Given the description of an element on the screen output the (x, y) to click on. 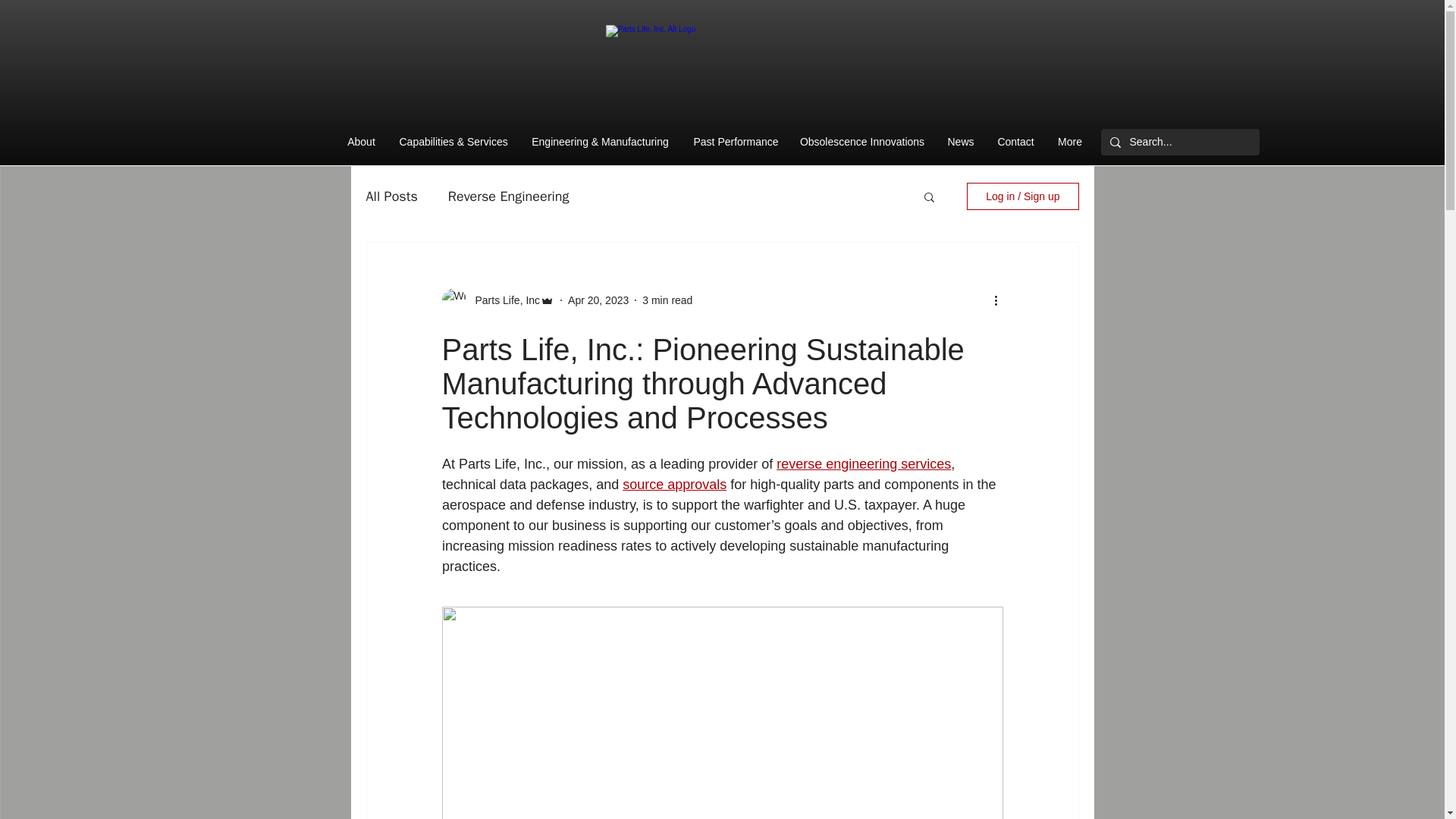
Apr 20, 2023 (597, 300)
Obsolescence Innovations (862, 141)
News (960, 141)
Reverse Engineering (508, 196)
reverse engineering services (863, 463)
About (361, 141)
3 min read (667, 300)
source approvals (674, 484)
Parts Life, Inc (502, 300)
All Posts (390, 196)
